Given the description of an element on the screen output the (x, y) to click on. 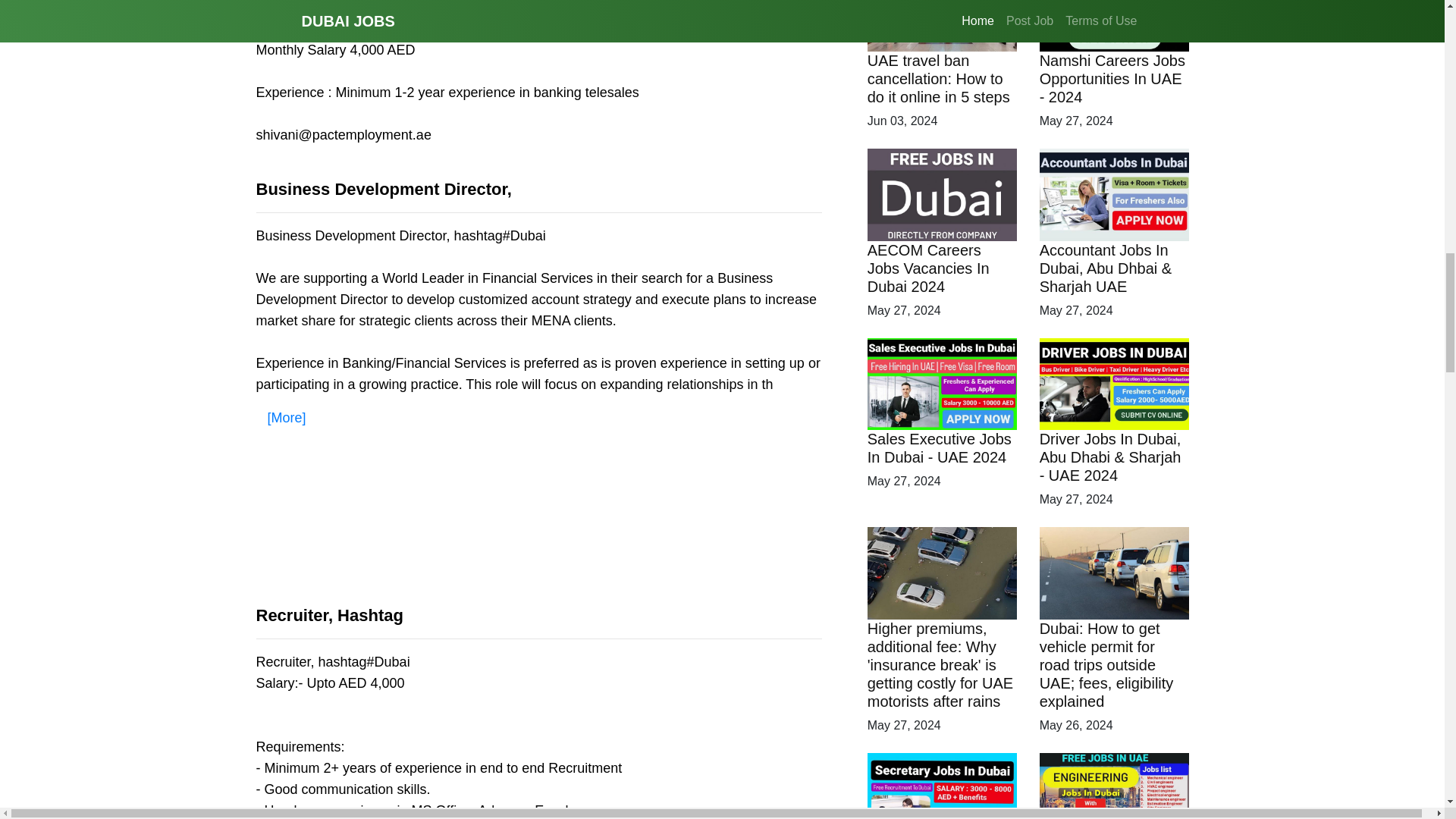
Advertisement (539, 533)
